Given the description of an element on the screen output the (x, y) to click on. 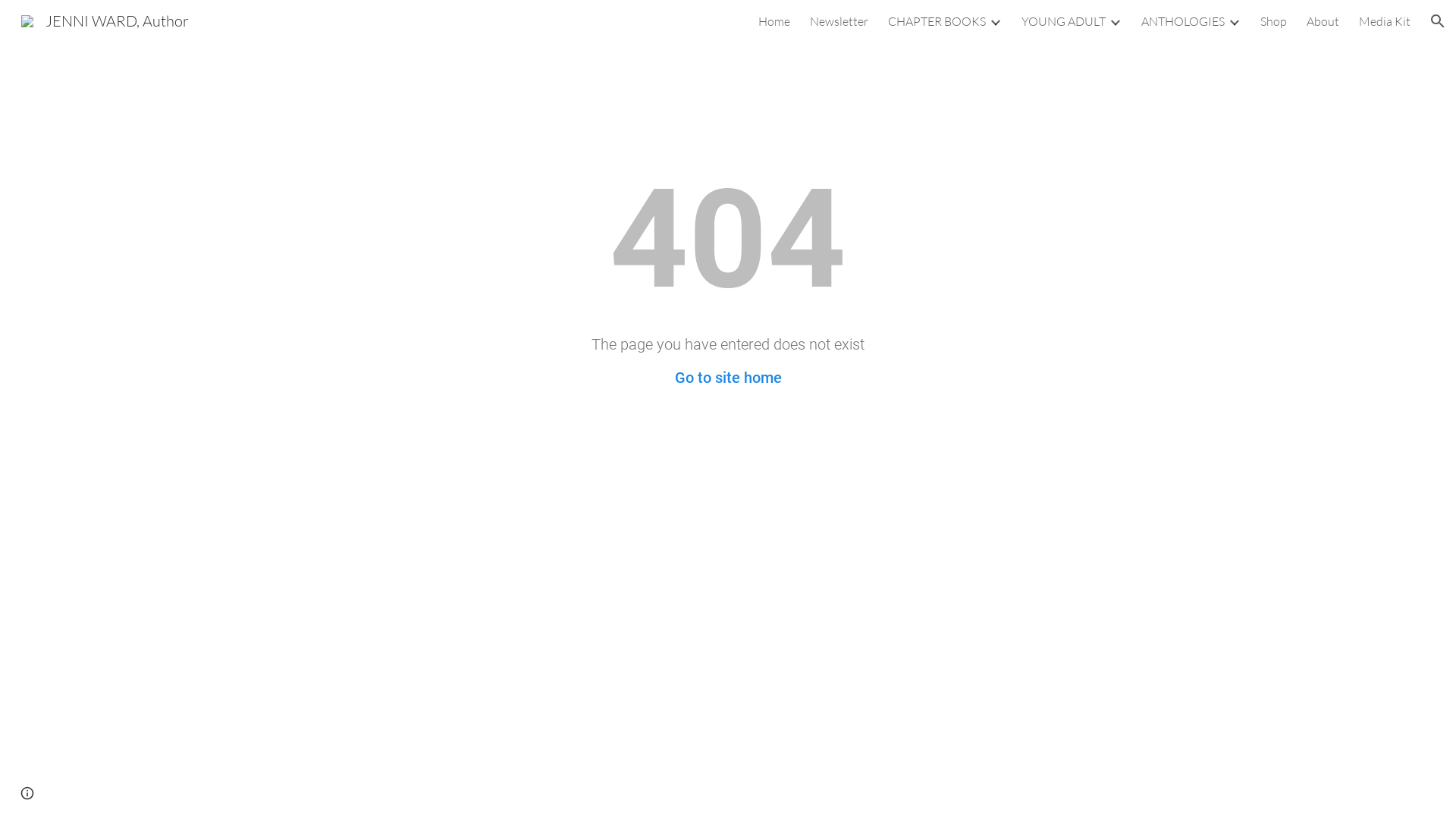
Home Element type: text (774, 20)
Go to site home Element type: text (727, 377)
Expand/Collapse Element type: hover (1114, 20)
Shop Element type: text (1273, 20)
About Element type: text (1322, 20)
CHAPTER BOOKS Element type: text (936, 20)
Newsletter Element type: text (838, 20)
Media Kit Element type: text (1384, 20)
Expand/Collapse Element type: hover (994, 20)
ANTHOLOGIES Element type: text (1182, 20)
JENNI WARD, Author Element type: text (104, 18)
Expand/Collapse Element type: hover (1233, 20)
YOUNG ADULT Element type: text (1063, 20)
